Given the description of an element on the screen output the (x, y) to click on. 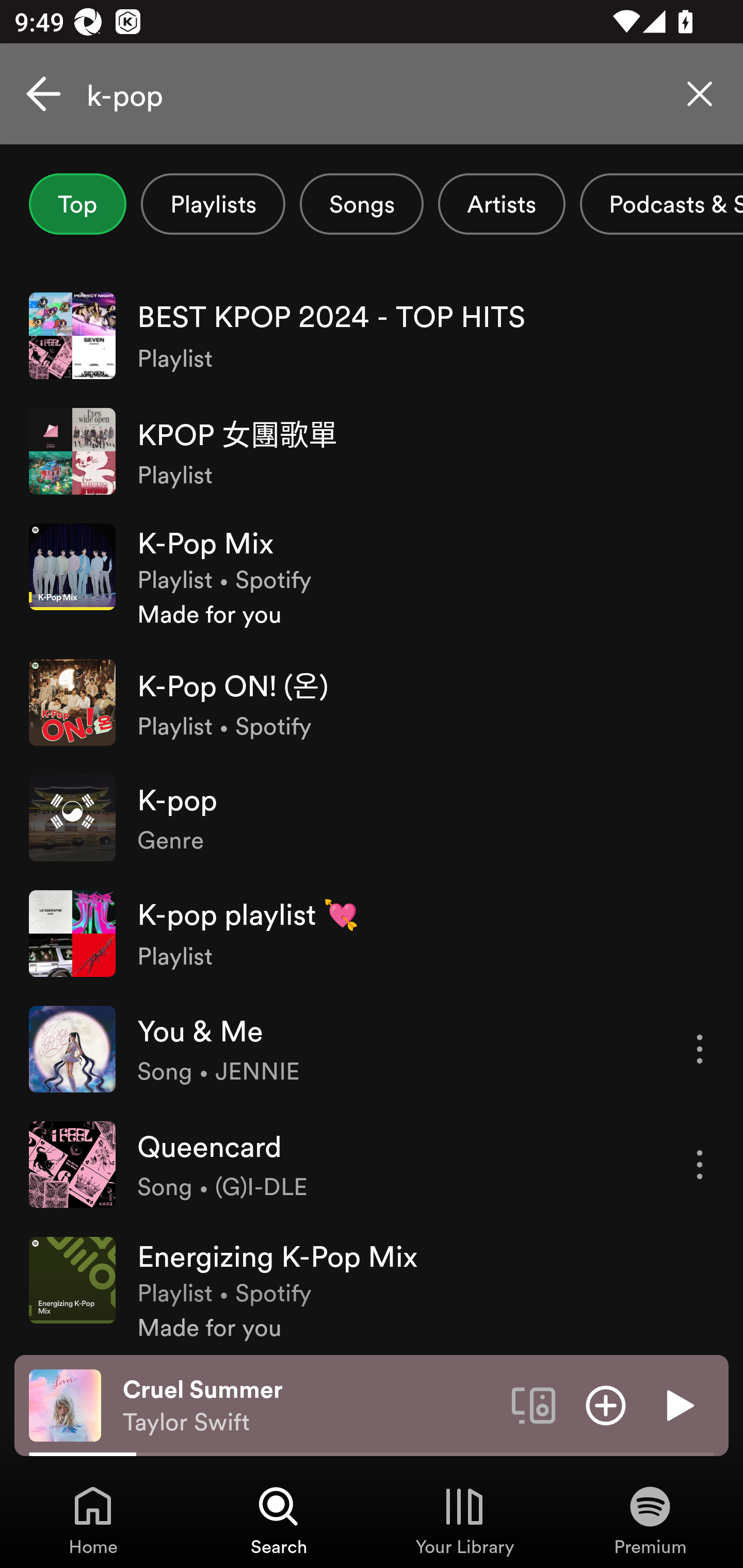
k-pop (371, 93)
Cancel (43, 93)
Clear search query (699, 93)
Top (77, 203)
Playlists (213, 203)
Songs (361, 203)
Artists (501, 203)
Podcasts & Shows (661, 203)
BEST KPOP 2024 - TOP HITS Playlist (371, 335)
KPOP 女團歌單 Playlist (371, 451)
K-Pop Mix Playlist • Spotify Made for you (371, 576)
K-Pop ON! (온) Playlist • Spotify (371, 702)
K-pop Genre (371, 818)
K-pop playlist 💘 Playlist (371, 933)
More options for song You & Me (699, 1048)
More options for song Queencard (699, 1164)
Cruel Summer Taylor Swift (309, 1405)
The cover art of the currently playing track (64, 1404)
Connect to a device. Opens the devices menu (533, 1404)
Add item (605, 1404)
Play (677, 1404)
Home, Tab 1 of 4 Home Home (92, 1519)
Search, Tab 2 of 4 Search Search (278, 1519)
Your Library, Tab 3 of 4 Your Library Your Library (464, 1519)
Premium, Tab 4 of 4 Premium Premium (650, 1519)
